Given the description of an element on the screen output the (x, y) to click on. 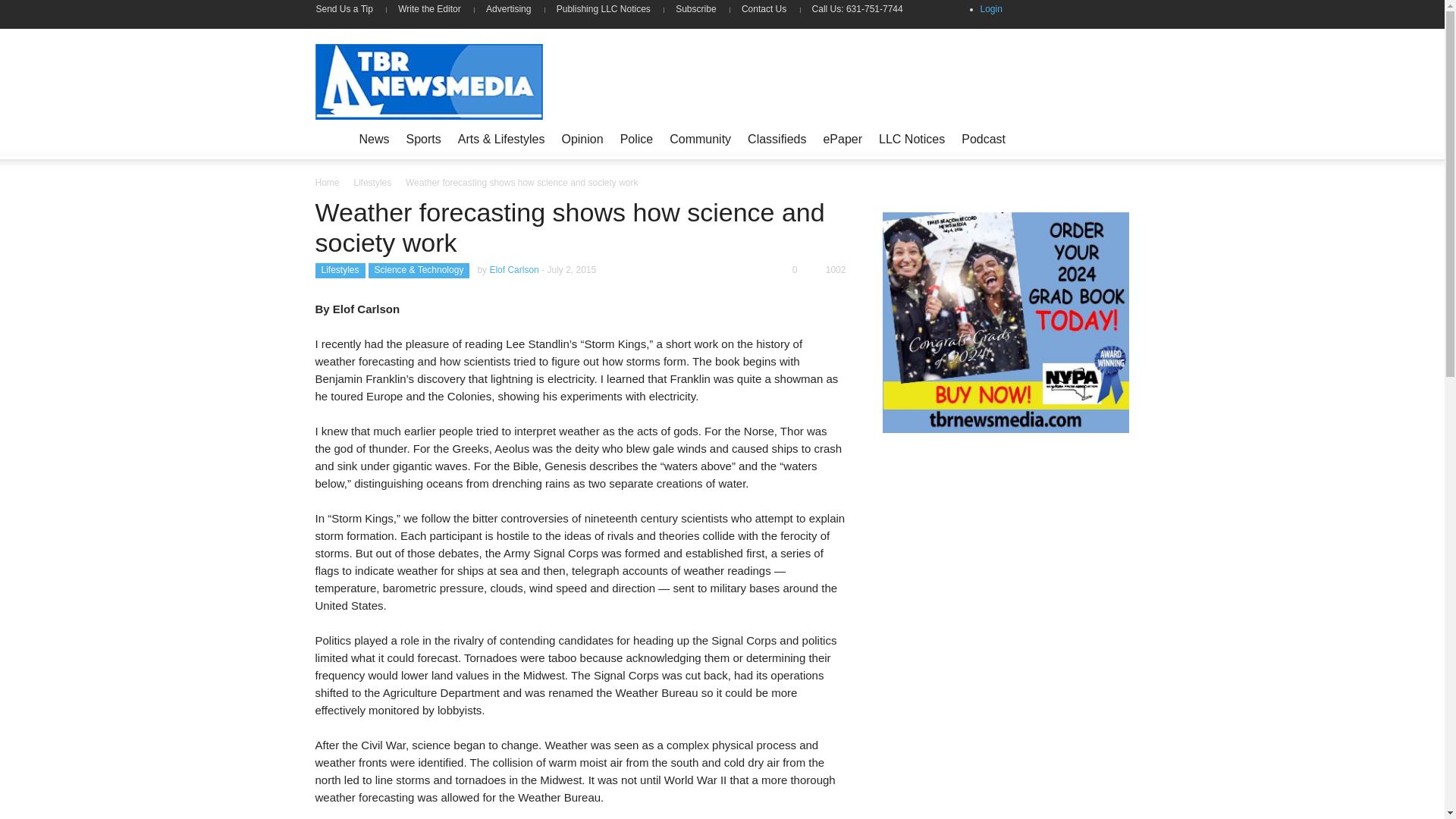
Advertising (507, 9)
Write the Editor (429, 9)
Contact Us (763, 9)
View all posts in Lifestyles (372, 182)
Send Us a Tip (349, 9)
